Given the description of an element on the screen output the (x, y) to click on. 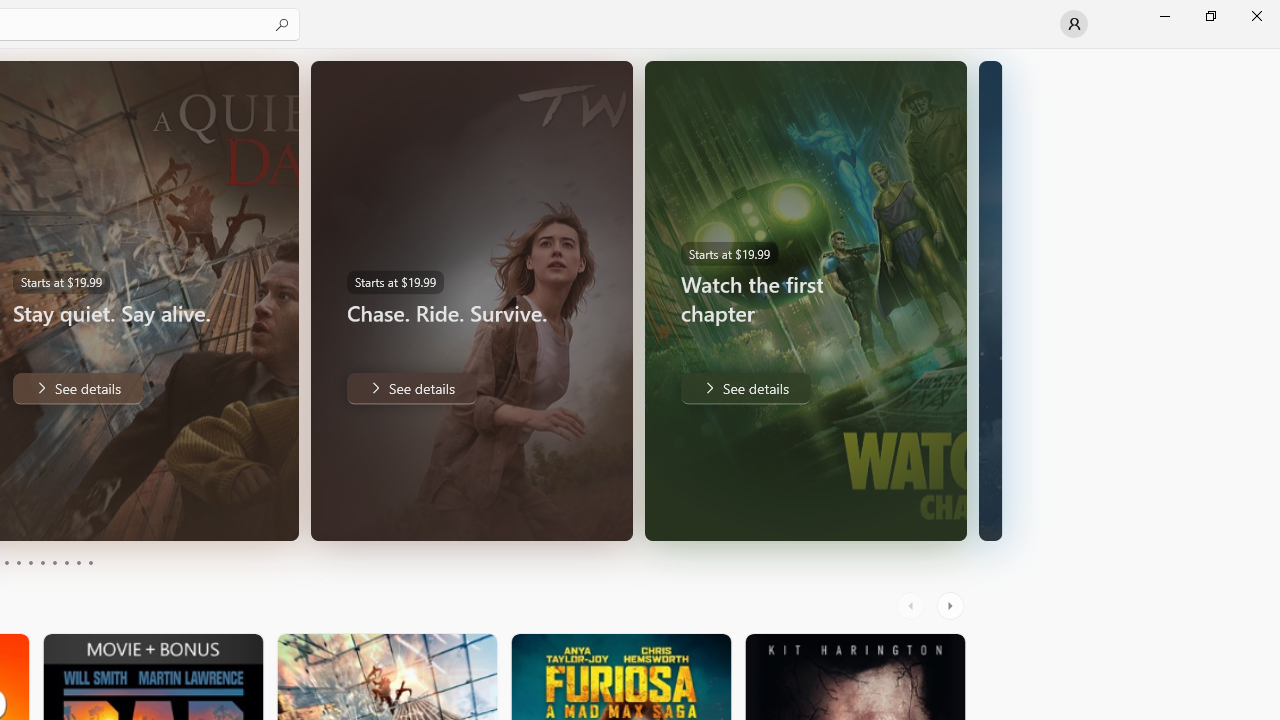
Page 8 (65, 562)
Page 7 (54, 562)
AutomationID: RightScrollButton (952, 606)
Page 6 (41, 562)
Page 4 (17, 562)
AutomationID: Image (989, 300)
Page 10 (90, 562)
Restore Microsoft Store (1210, 15)
Minimize Microsoft Store (1164, 15)
AutomationID: LeftScrollButton (913, 606)
Page 5 (29, 562)
Page 3 (5, 562)
User profile (1073, 24)
Page 9 (77, 562)
